Given the description of an element on the screen output the (x, y) to click on. 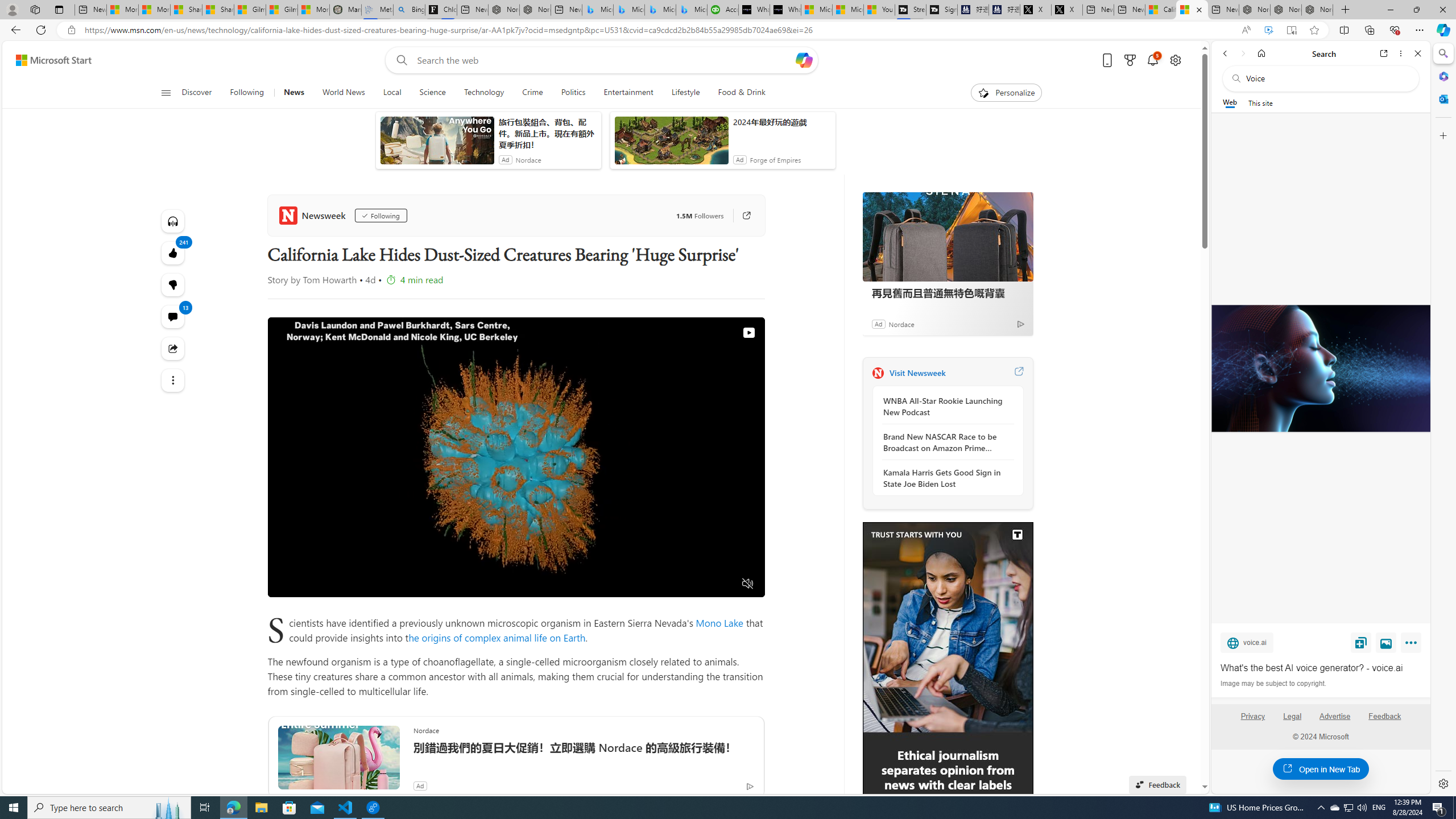
241 Like (172, 252)
Personalize (1006, 92)
Share this story (172, 348)
This site scope (1259, 102)
Privacy (1252, 715)
View image (1385, 642)
Open Copilot (803, 59)
View on Watch (748, 332)
Science (432, 92)
Enter your search term (603, 59)
Tab actions menu (58, 9)
Politics (572, 92)
Privacy (1252, 720)
Forward (1242, 53)
